Given the description of an element on the screen output the (x, y) to click on. 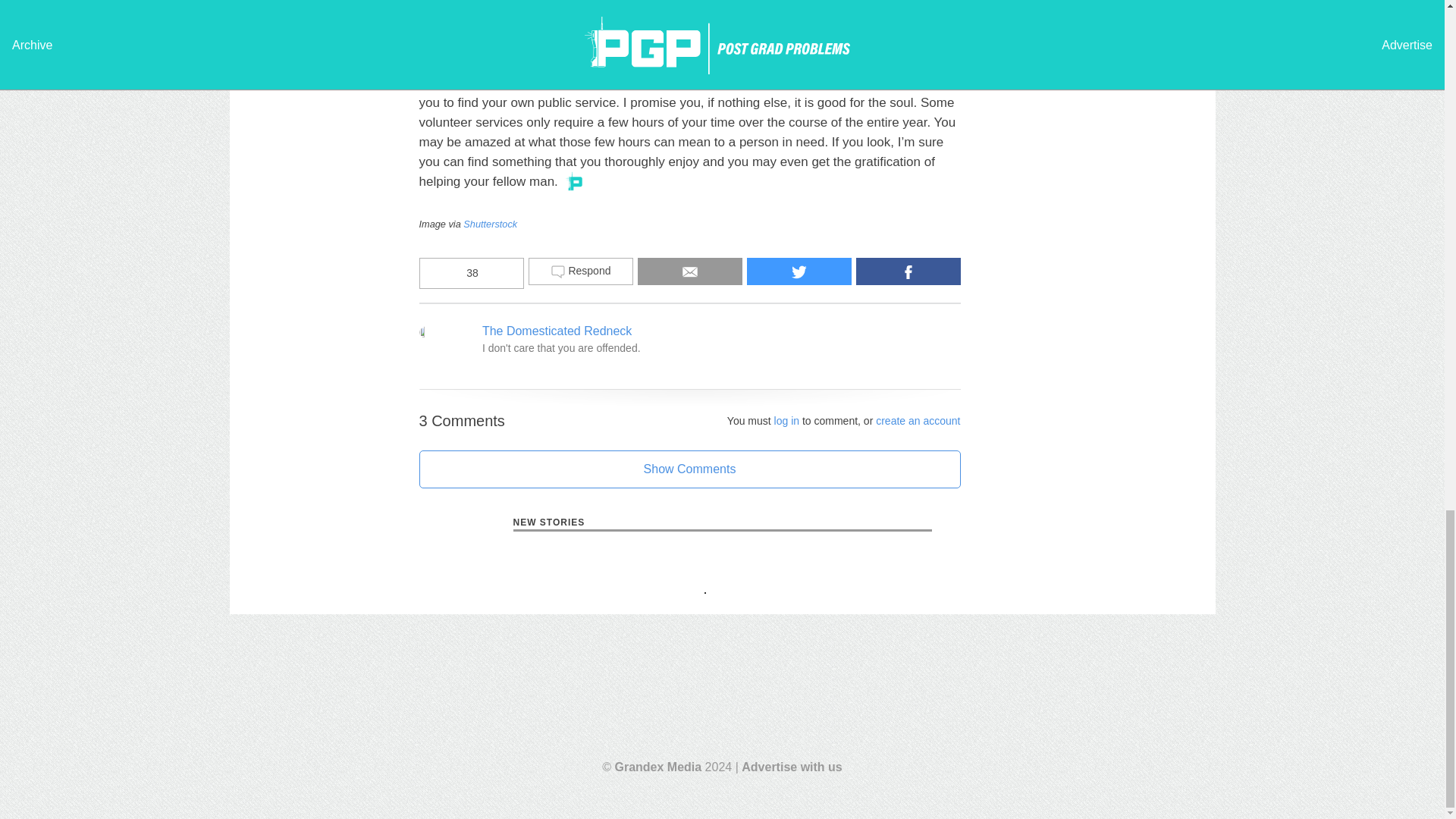
log in (786, 420)
The Domesticated Redneck (556, 330)
Login (786, 420)
Show Comments (689, 469)
NEW STORIES (721, 523)
Respond (579, 271)
create an account (917, 420)
Advertise with us (791, 766)
Create an Account (917, 420)
Grandex Media (657, 766)
Shutterstock (489, 224)
38 (470, 273)
